Given the description of an element on the screen output the (x, y) to click on. 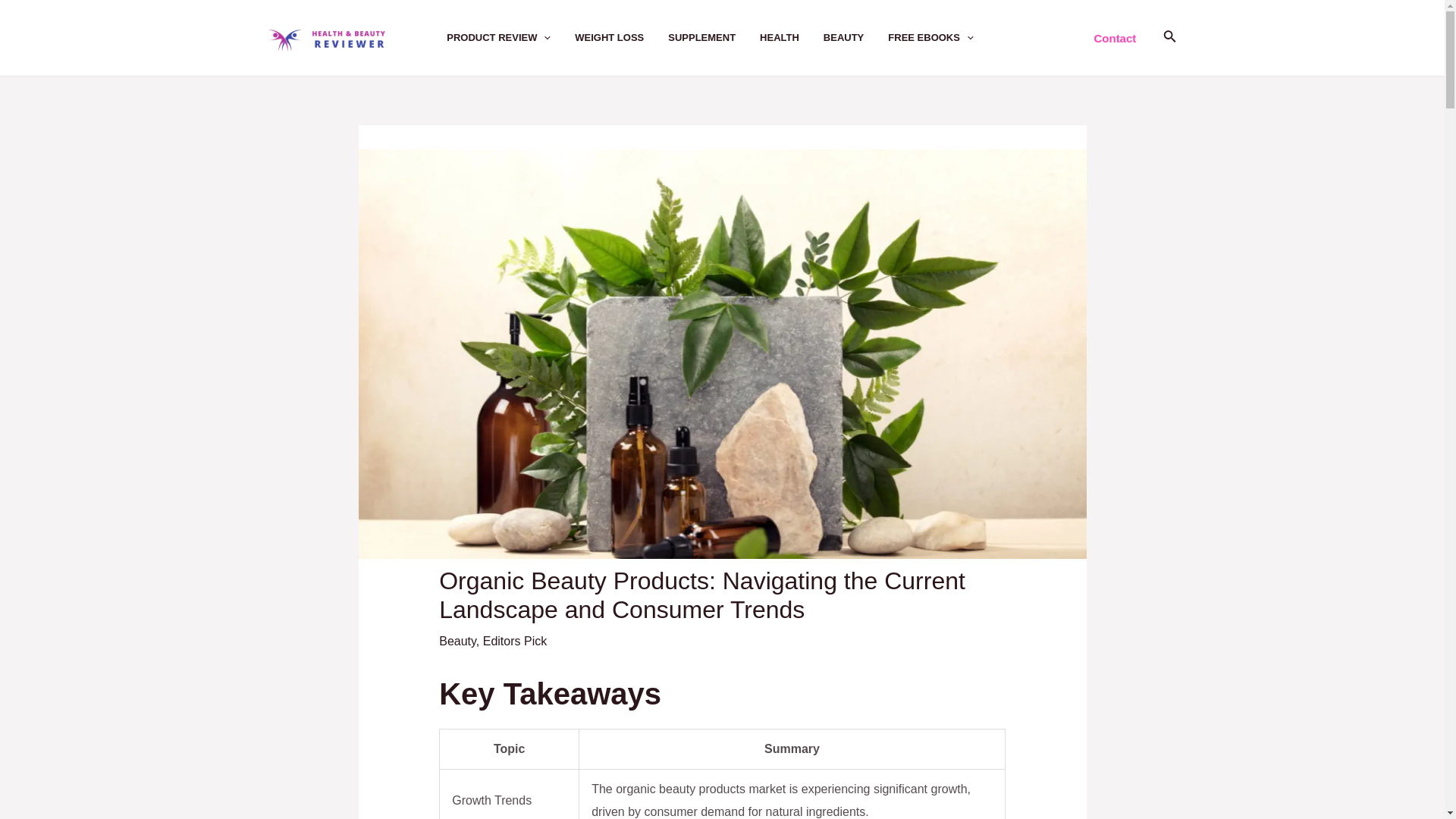
BEAUTY (856, 38)
WEIGHT LOSS (621, 38)
Search (1169, 37)
HEALTH (792, 38)
Contact (1114, 37)
Beauty (457, 640)
FREE EBOOKS (942, 38)
Editors Pick (515, 640)
SUPPLEMENT (714, 38)
PRODUCT REVIEW (510, 38)
